Given the description of an element on the screen output the (x, y) to click on. 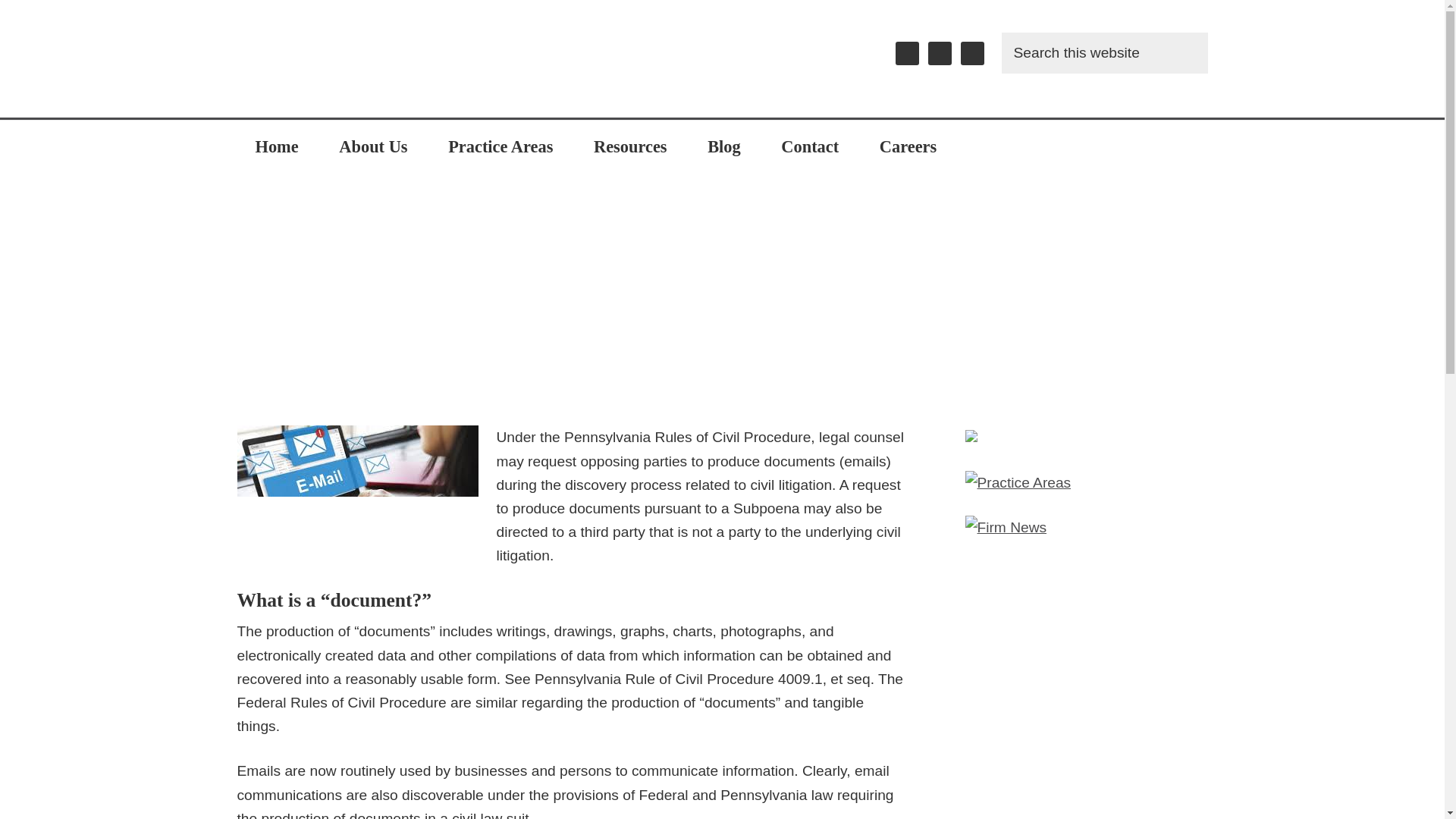
Home (275, 146)
About Us (372, 146)
Practice Areas (499, 146)
Careers (908, 146)
Grim Law (349, 58)
Contact (809, 146)
Resources (630, 146)
